Given the description of an element on the screen output the (x, y) to click on. 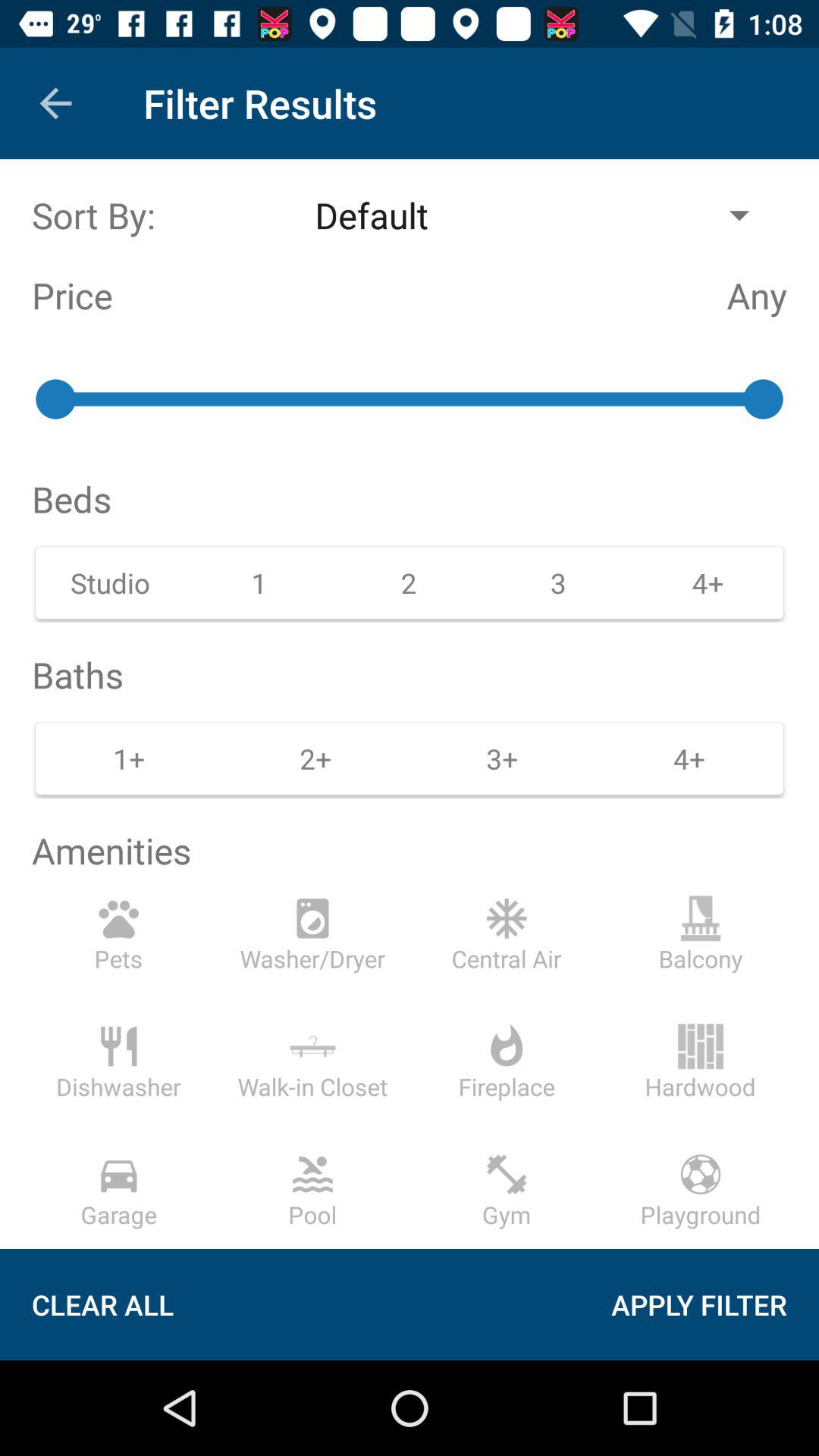
click on 2 on the right side of 1 (314, 758)
select the number which is next to 3 (707, 582)
click on football symbol above playground (700, 1174)
select apply filter shown on the bottom right corner (716, 1304)
